Given the description of an element on the screen output the (x, y) to click on. 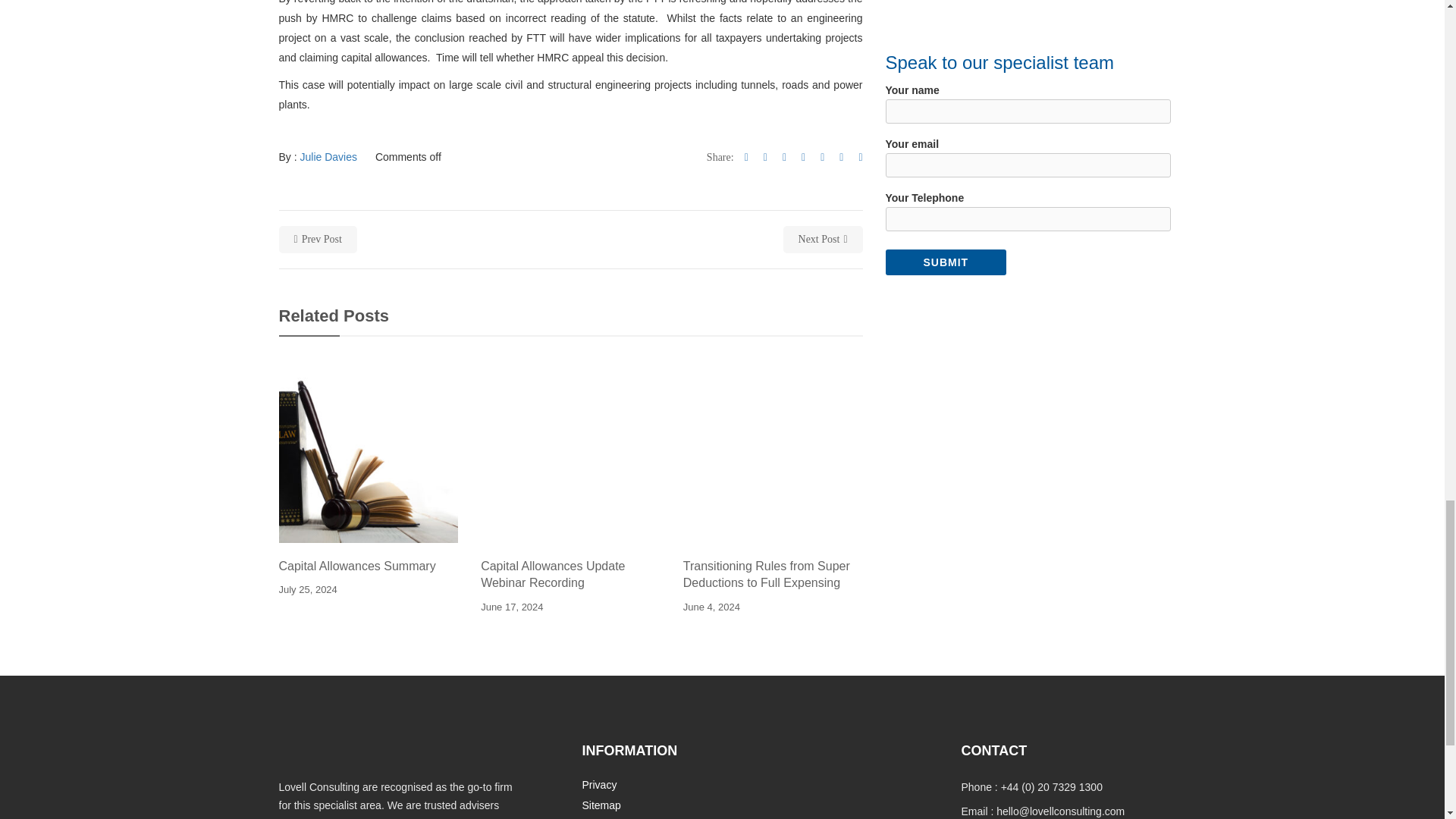
Sitemap (600, 805)
Capital Allowances Update Webinar Recording (570, 574)
Transitioning Rules from Super Deductions to Full Expensing (772, 574)
Prev Post (317, 239)
Julie Davies (327, 156)
Next Post (823, 239)
Capital Allowances Summary (368, 565)
Privacy (597, 784)
